Given the description of an element on the screen output the (x, y) to click on. 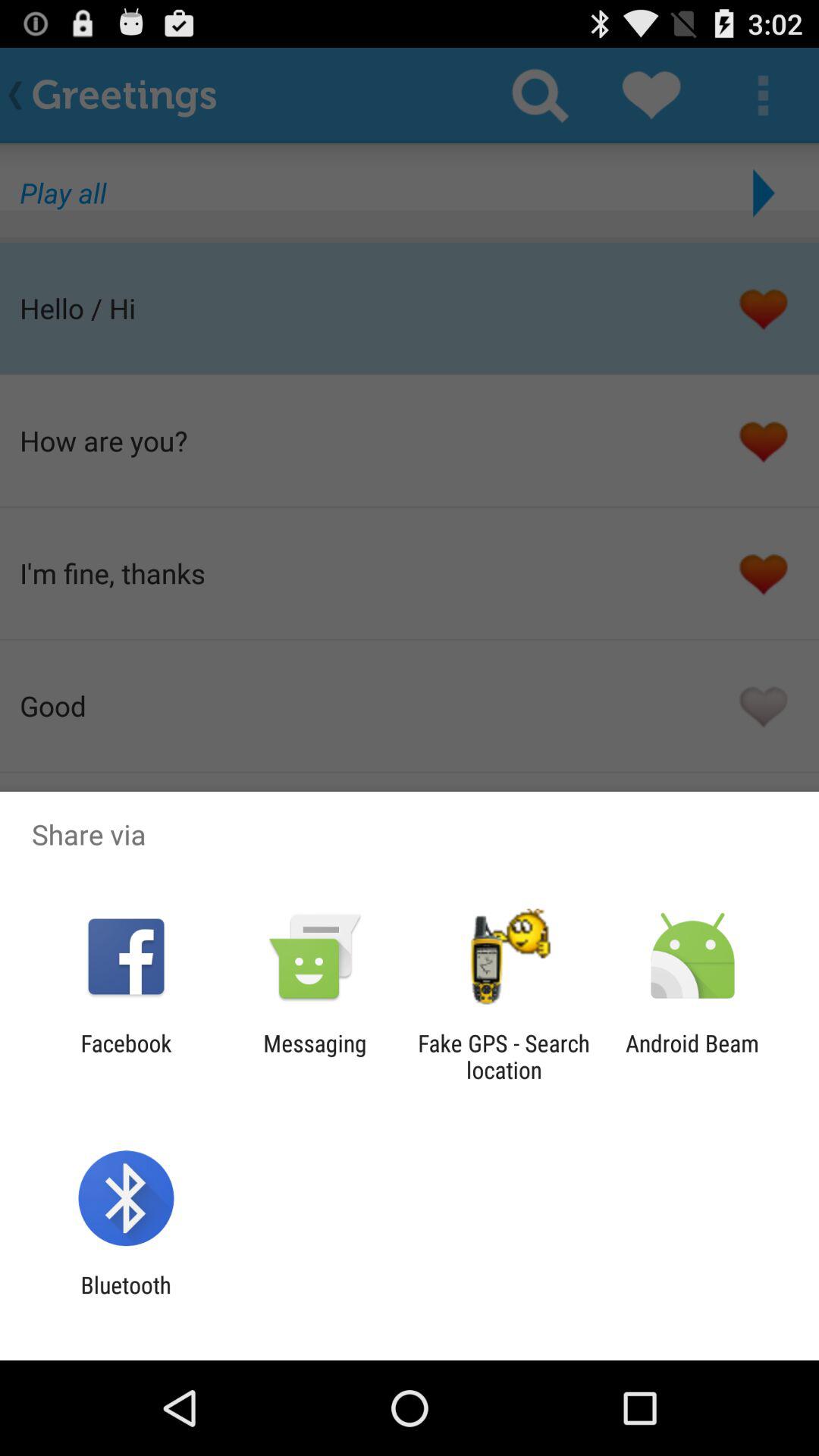
select the facebook app (125, 1056)
